Given the description of an element on the screen output the (x, y) to click on. 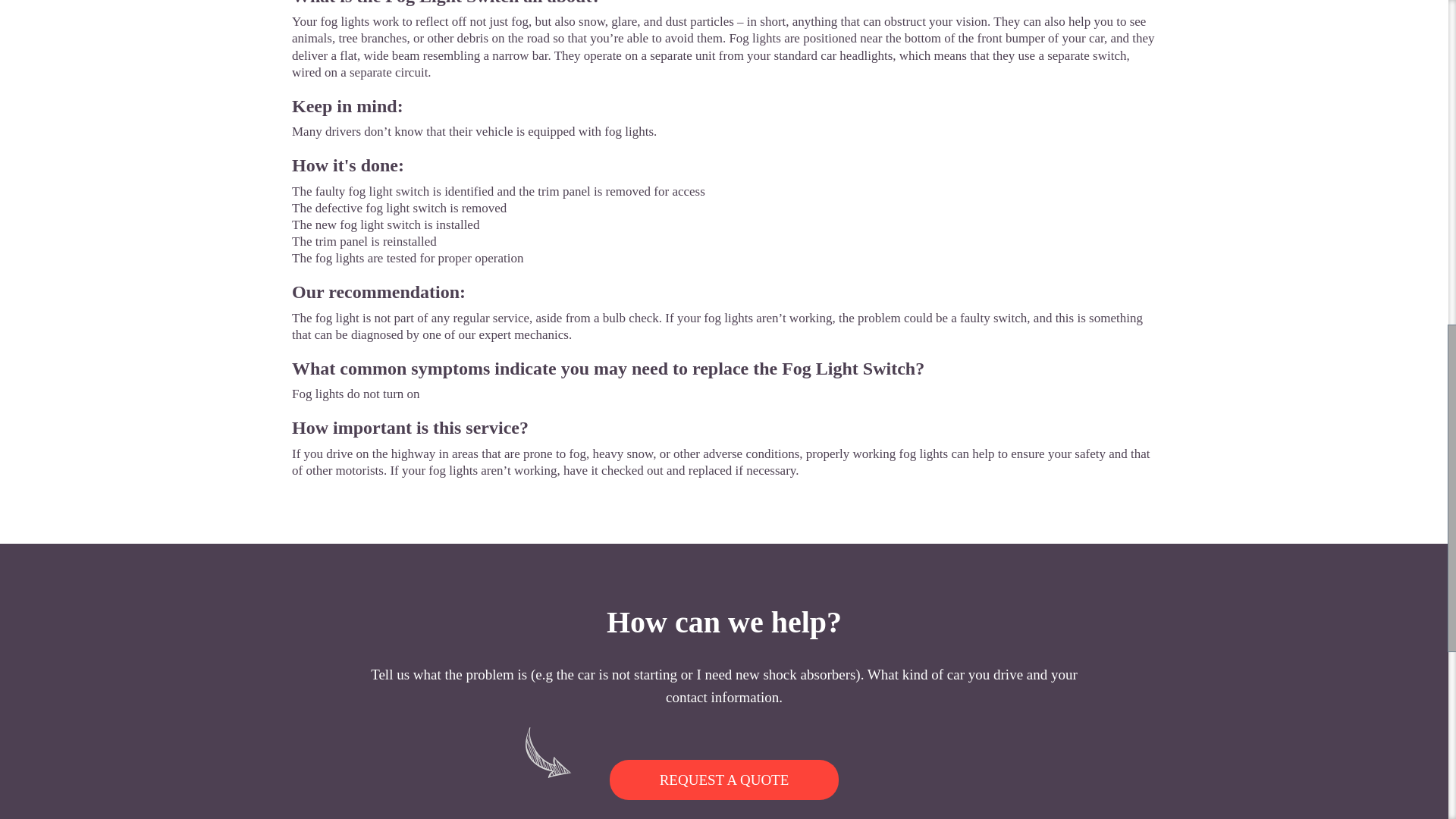
REQUEST A QUOTE (725, 780)
